Given the description of an element on the screen output the (x, y) to click on. 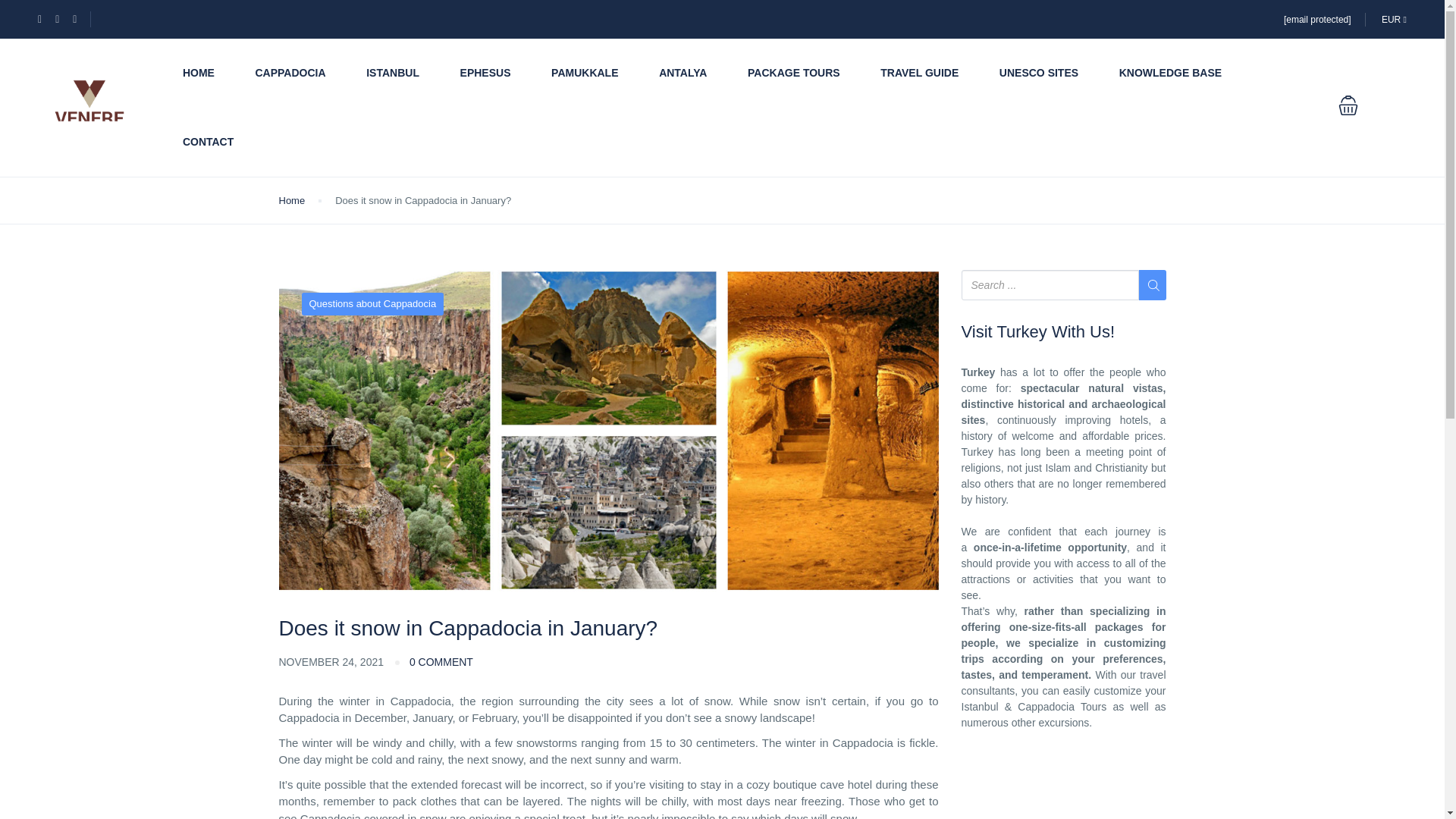
Home (292, 200)
ANTALYA (682, 72)
PAMUKKALE (584, 72)
EUR (1393, 18)
EPHESUS (485, 72)
ISTANBUL (392, 72)
TRAVEL GUIDE (918, 72)
PACKAGE TOURS (794, 72)
KNOWLEDGE BASE (1170, 72)
UNESCO SITES (1038, 72)
